Given the description of an element on the screen output the (x, y) to click on. 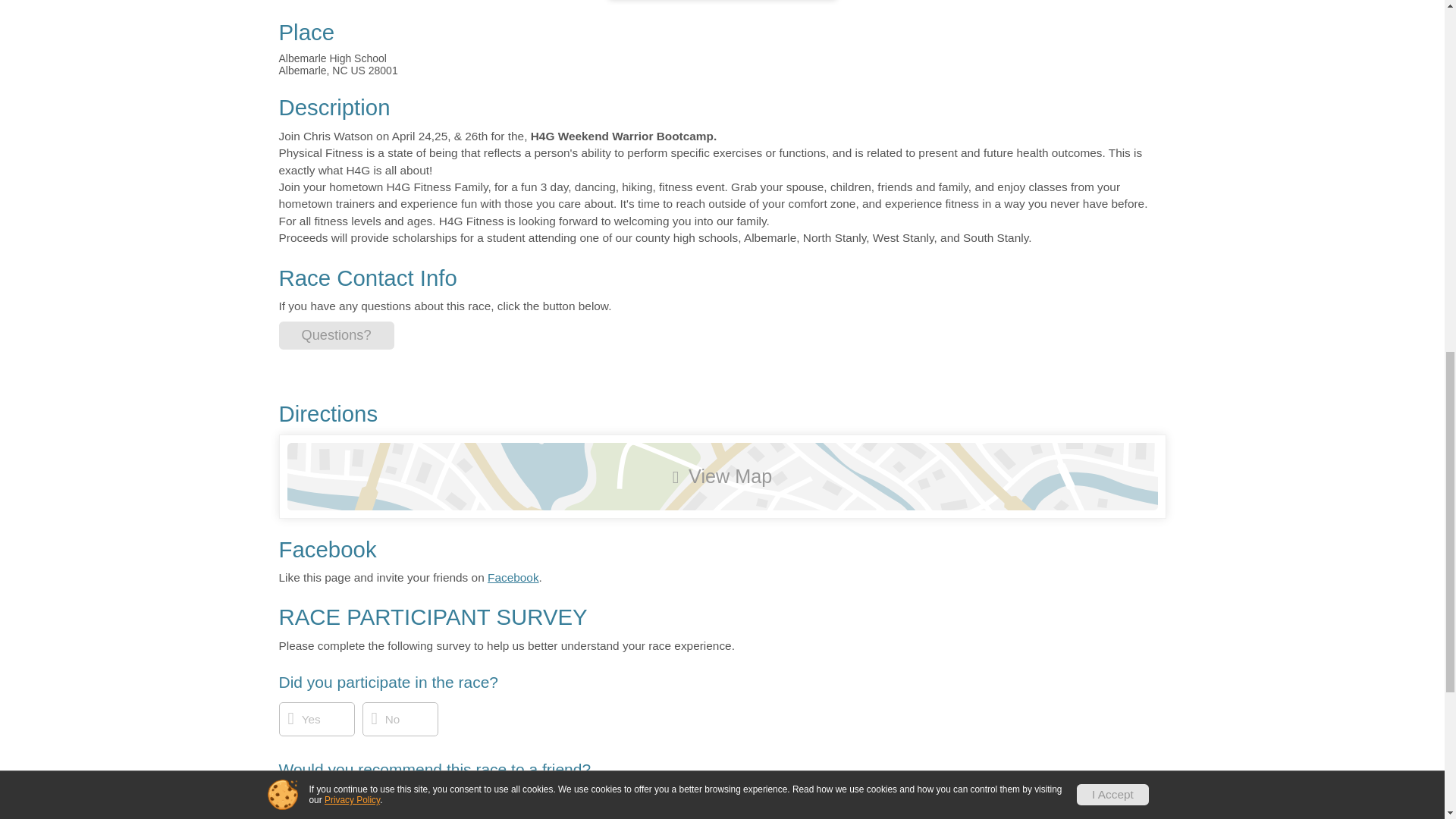
4 (493, 815)
1 (355, 815)
3 (447, 815)
8 (675, 815)
View Map (721, 476)
7 (629, 815)
5 (539, 815)
0 (310, 815)
2 (401, 815)
Questions? (336, 335)
